Given the description of an element on the screen output the (x, y) to click on. 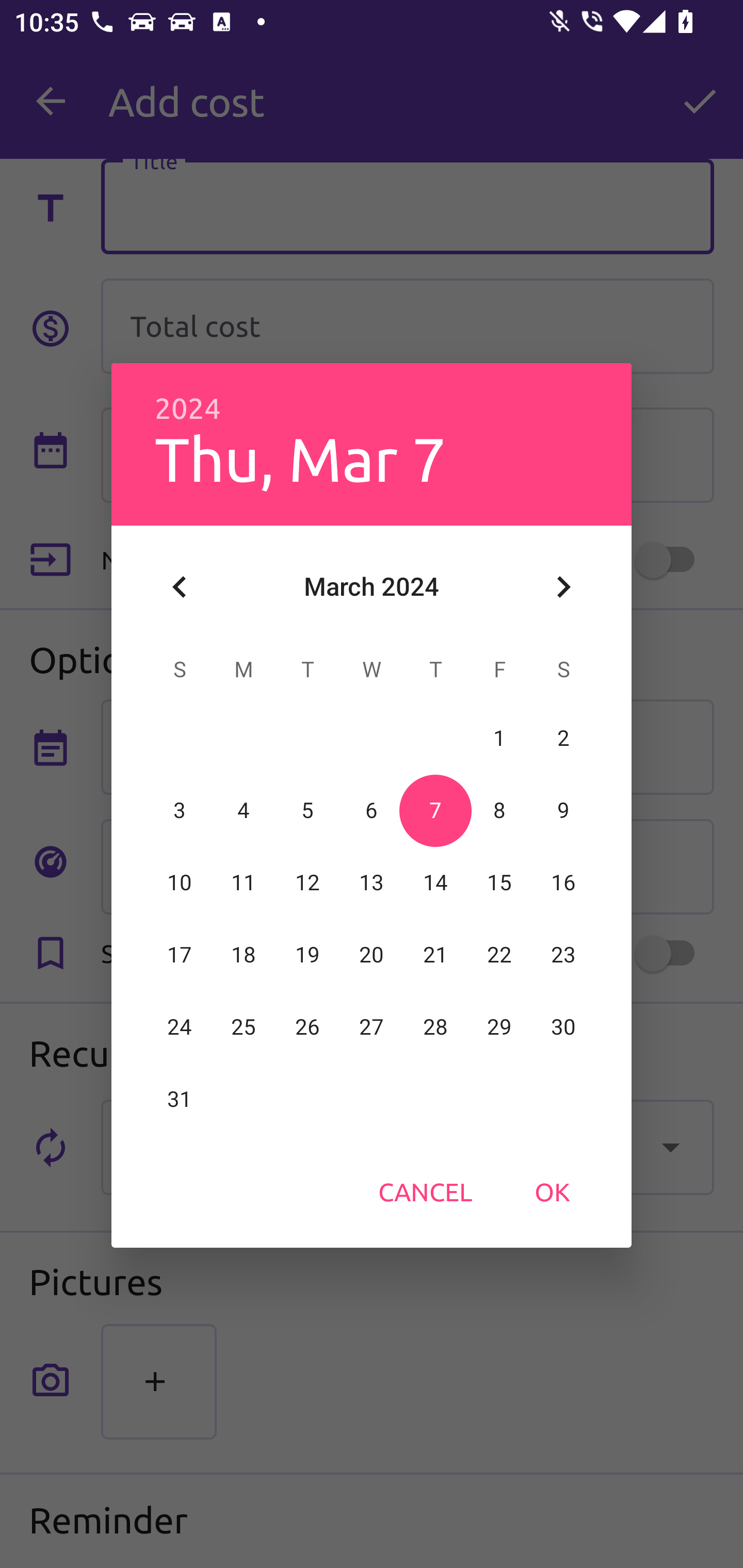
2024 (187, 408)
Thu, Mar 7 (300, 458)
Previous month (178, 587)
Next month (563, 587)
1 01 March 2024 (499, 738)
2 02 March 2024 (563, 738)
3 03 March 2024 (179, 810)
4 04 March 2024 (243, 810)
5 05 March 2024 (307, 810)
6 06 March 2024 (371, 810)
7 07 March 2024 (435, 810)
8 08 March 2024 (499, 810)
9 09 March 2024 (563, 810)
10 10 March 2024 (179, 882)
11 11 March 2024 (243, 882)
12 12 March 2024 (307, 882)
13 13 March 2024 (371, 882)
14 14 March 2024 (435, 882)
15 15 March 2024 (499, 882)
16 16 March 2024 (563, 882)
17 17 March 2024 (179, 954)
18 18 March 2024 (243, 954)
19 19 March 2024 (307, 954)
20 20 March 2024 (371, 954)
21 21 March 2024 (435, 954)
22 22 March 2024 (499, 954)
23 23 March 2024 (563, 954)
24 24 March 2024 (179, 1026)
25 25 March 2024 (243, 1026)
26 26 March 2024 (307, 1026)
27 27 March 2024 (371, 1026)
28 28 March 2024 (435, 1026)
29 29 March 2024 (499, 1026)
30 30 March 2024 (563, 1026)
31 31 March 2024 (179, 1099)
CANCEL (425, 1191)
OK (552, 1191)
